Given the description of an element on the screen output the (x, y) to click on. 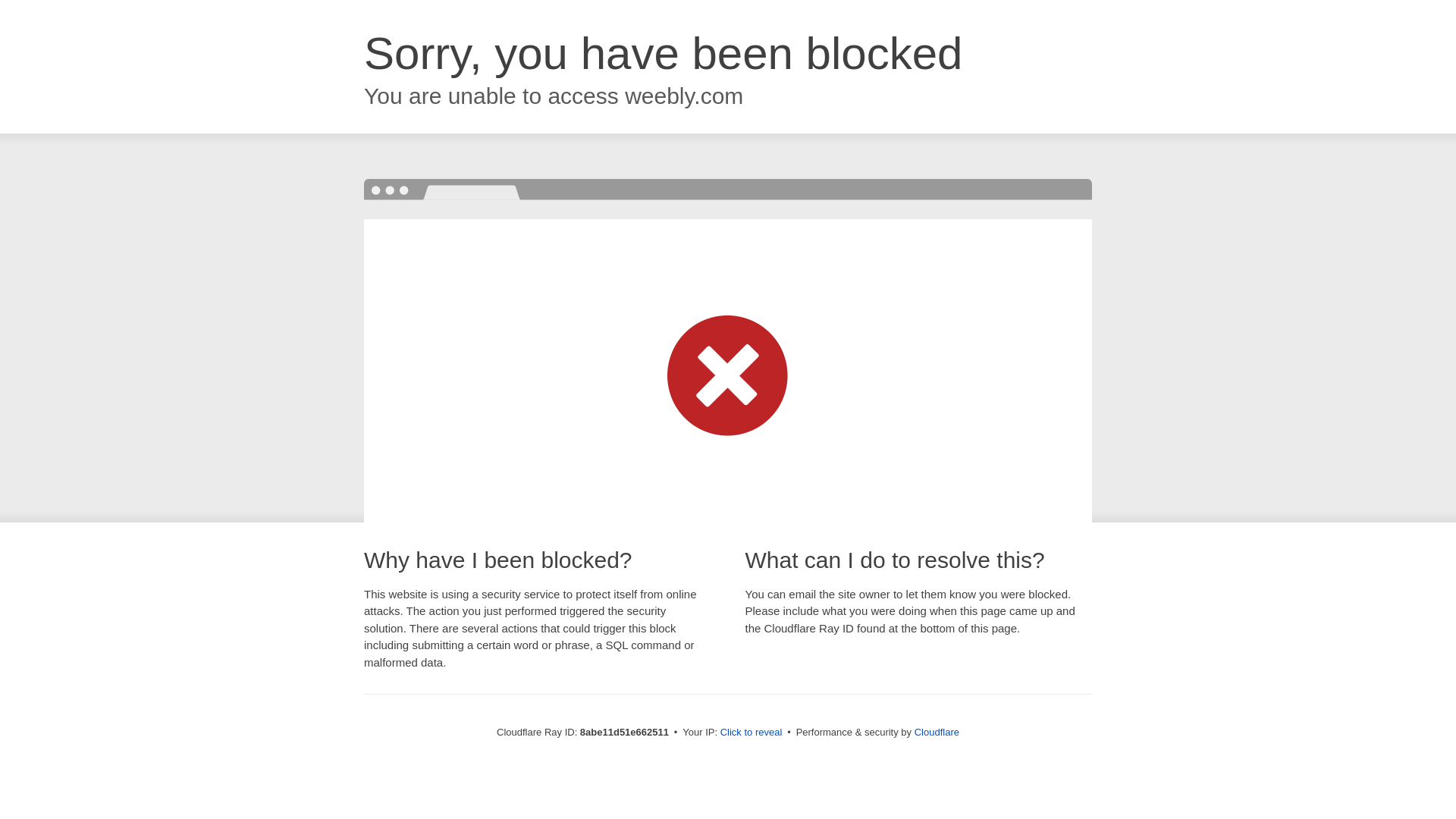
Click to reveal (751, 732)
Cloudflare (936, 731)
